Given the description of an element on the screen output the (x, y) to click on. 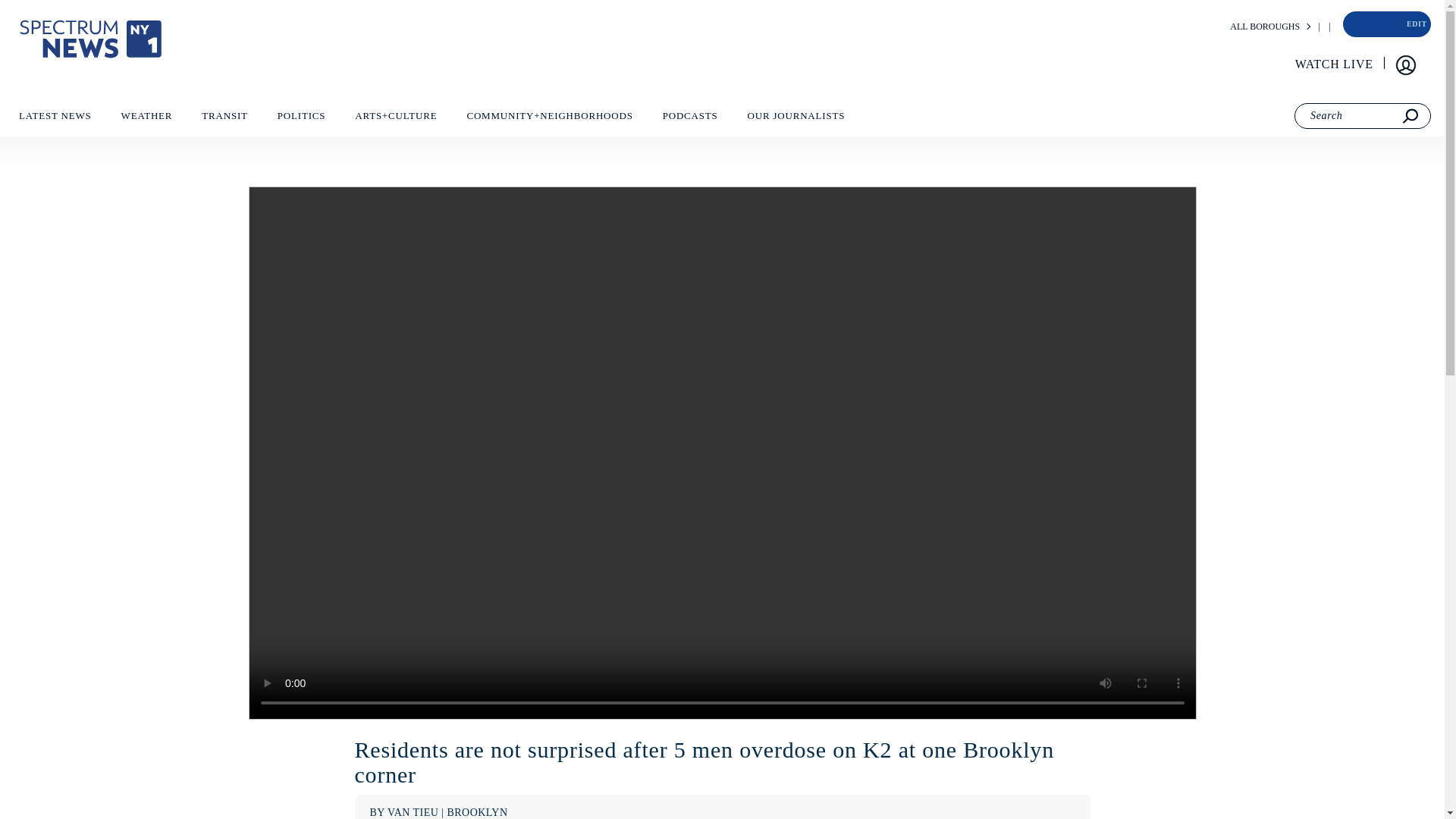
WATCH LIVE (1334, 64)
ALL BOROUGHS (1265, 26)
WEATHER (146, 119)
LATEST NEWS (55, 119)
